Given the description of an element on the screen output the (x, y) to click on. 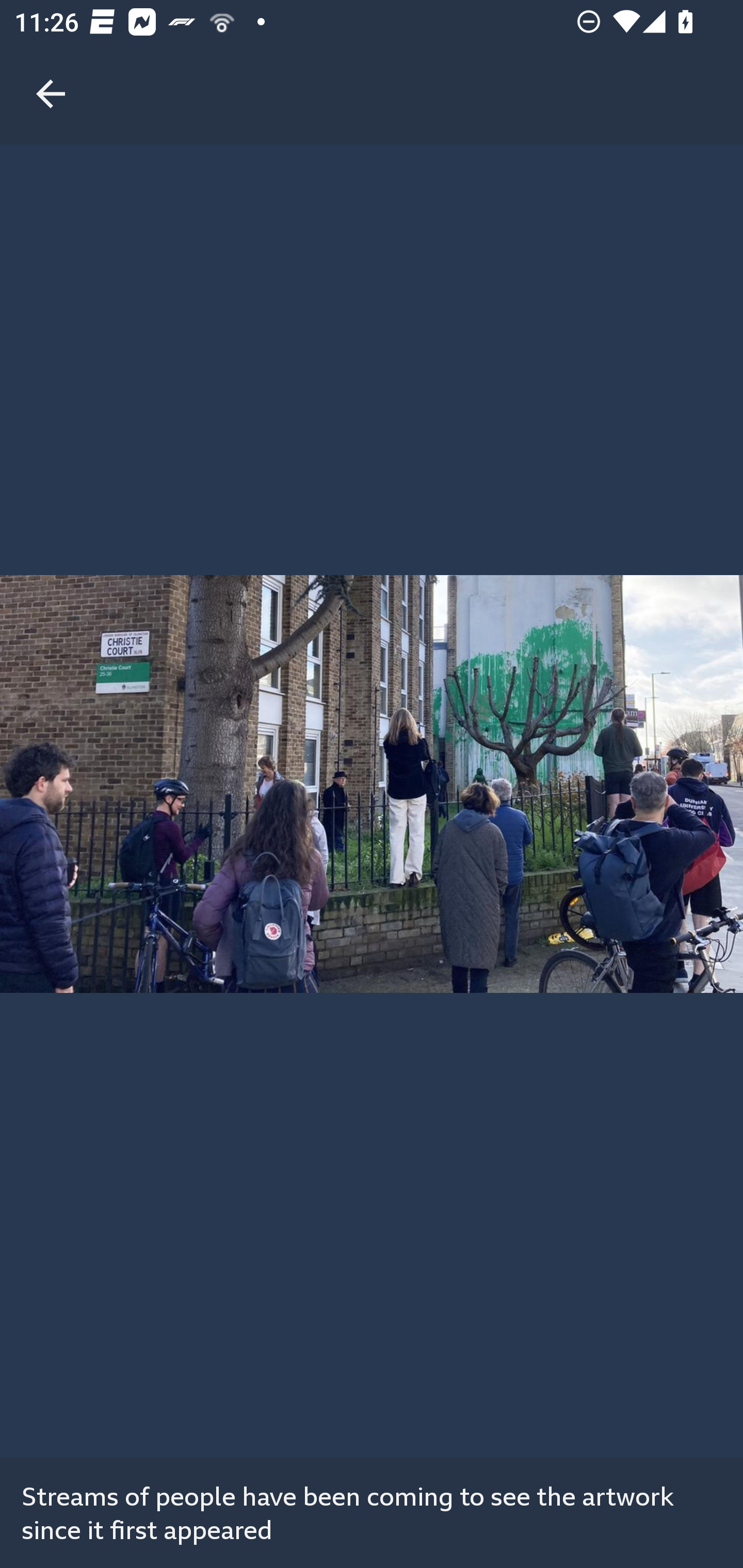
Back (50, 72)
